Given the description of an element on the screen output the (x, y) to click on. 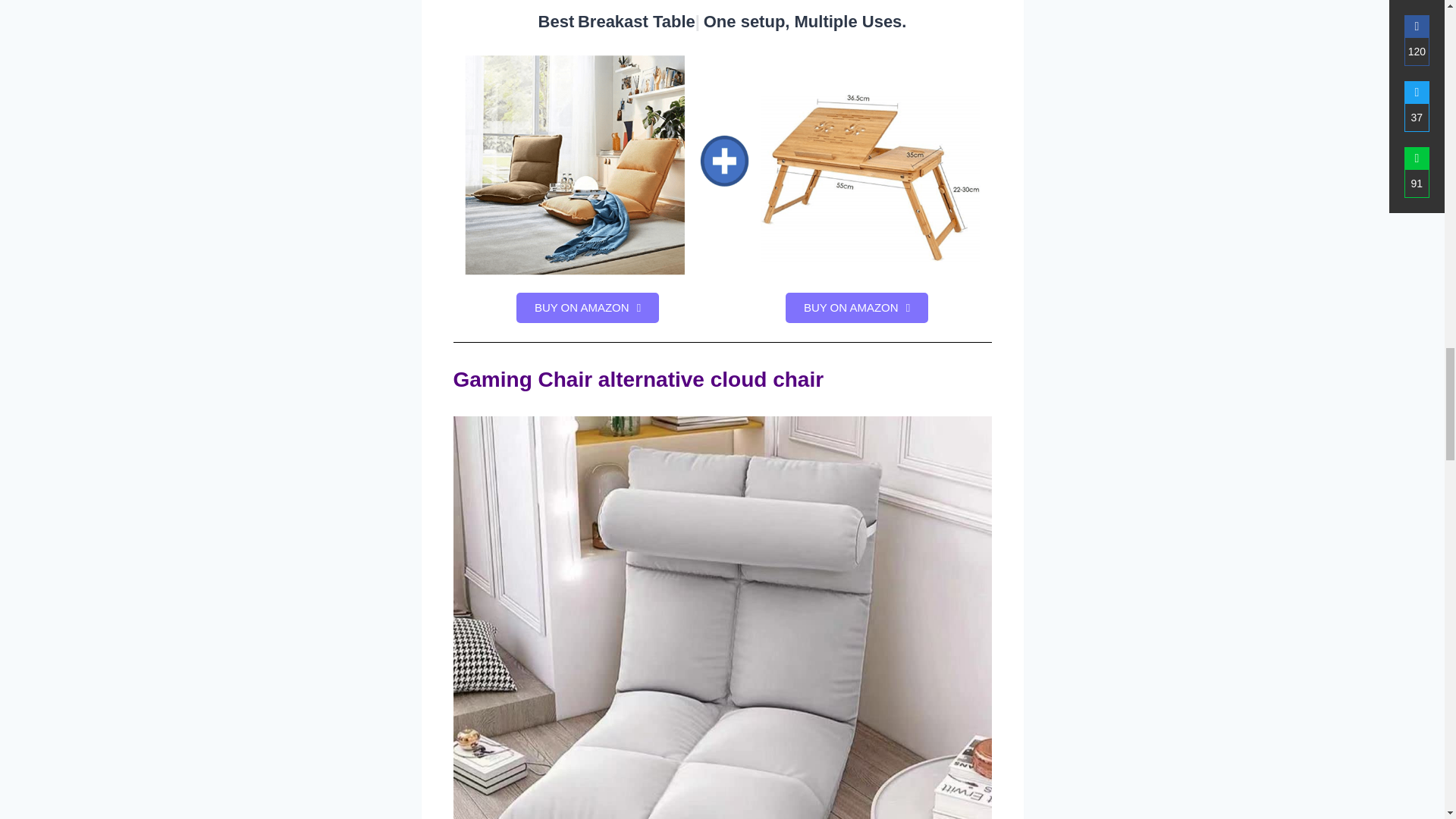
BUY ON AMAZON (587, 307)
BUY ON AMAZON (857, 307)
